Given the description of an element on the screen output the (x, y) to click on. 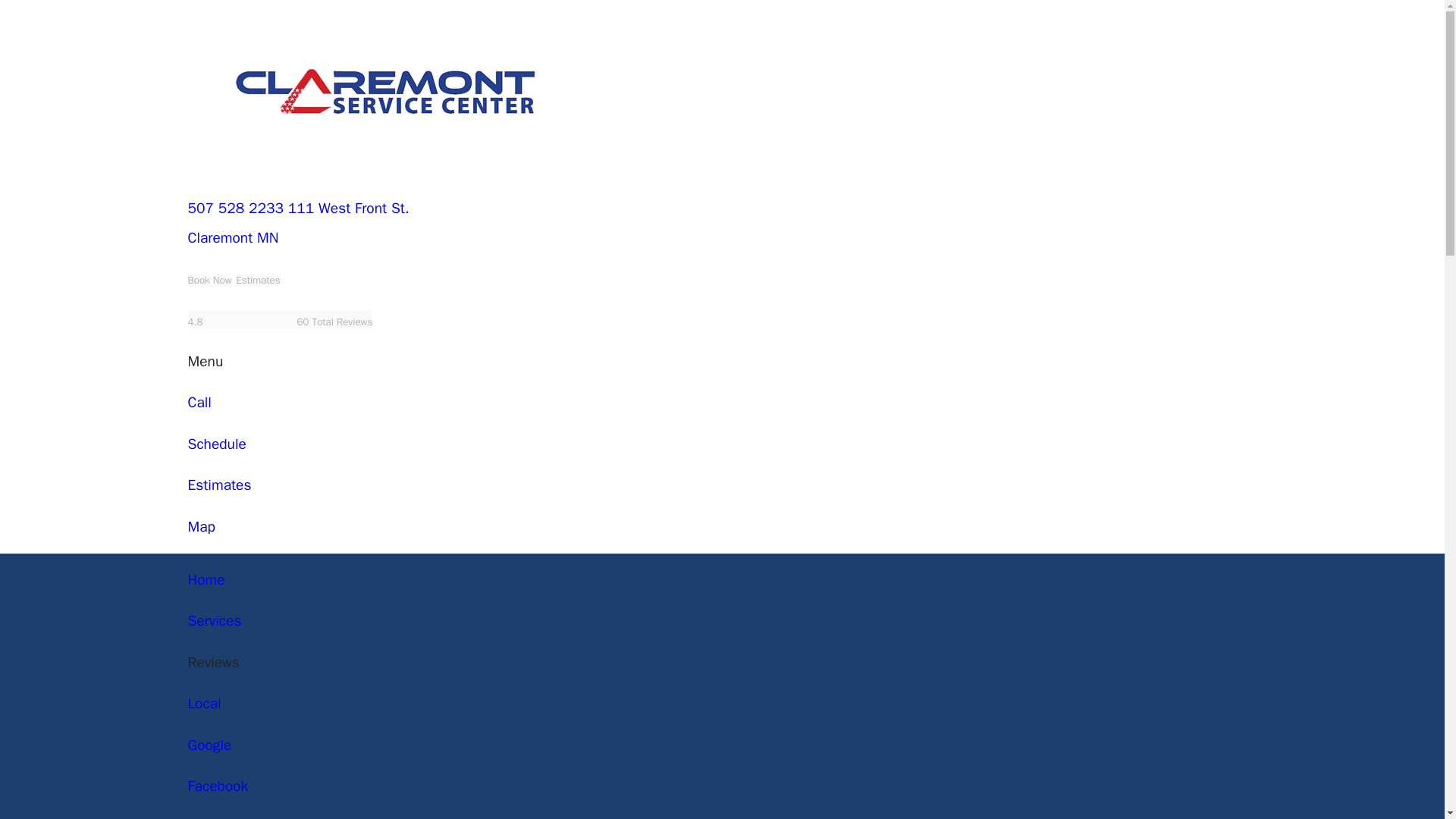
Facebook (217, 786)
Facebook Reviews (217, 786)
Local (204, 703)
Map (201, 526)
507 528 2233 (235, 208)
Book Now (209, 280)
4.8 60 Total Reviews (279, 319)
Google (209, 745)
Services (214, 620)
Estimates (219, 484)
